Given the description of an element on the screen output the (x, y) to click on. 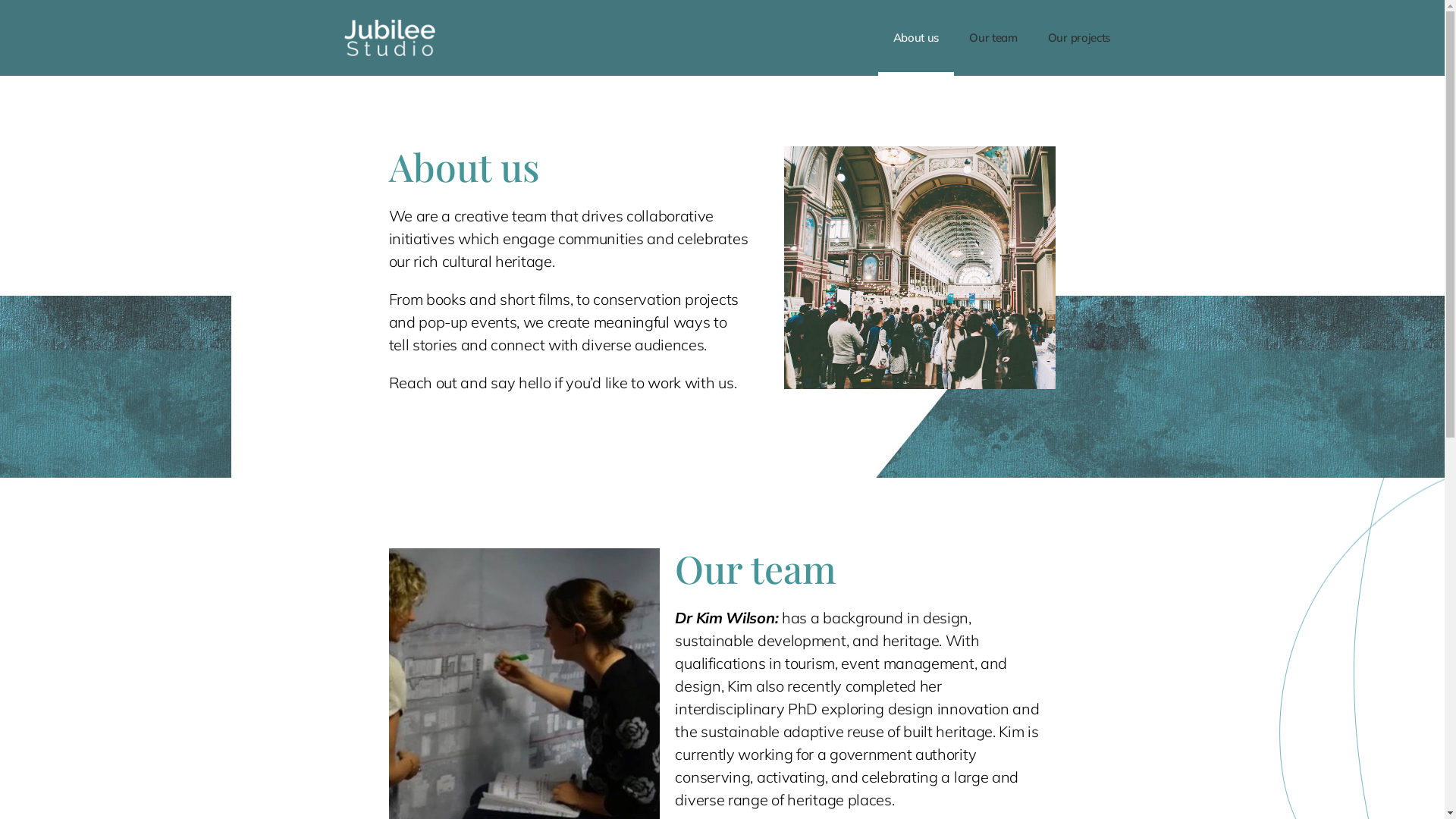
Our projects Element type: text (1078, 37)
About us Element type: text (916, 37)
Our team Element type: text (992, 37)
